Given the description of an element on the screen output the (x, y) to click on. 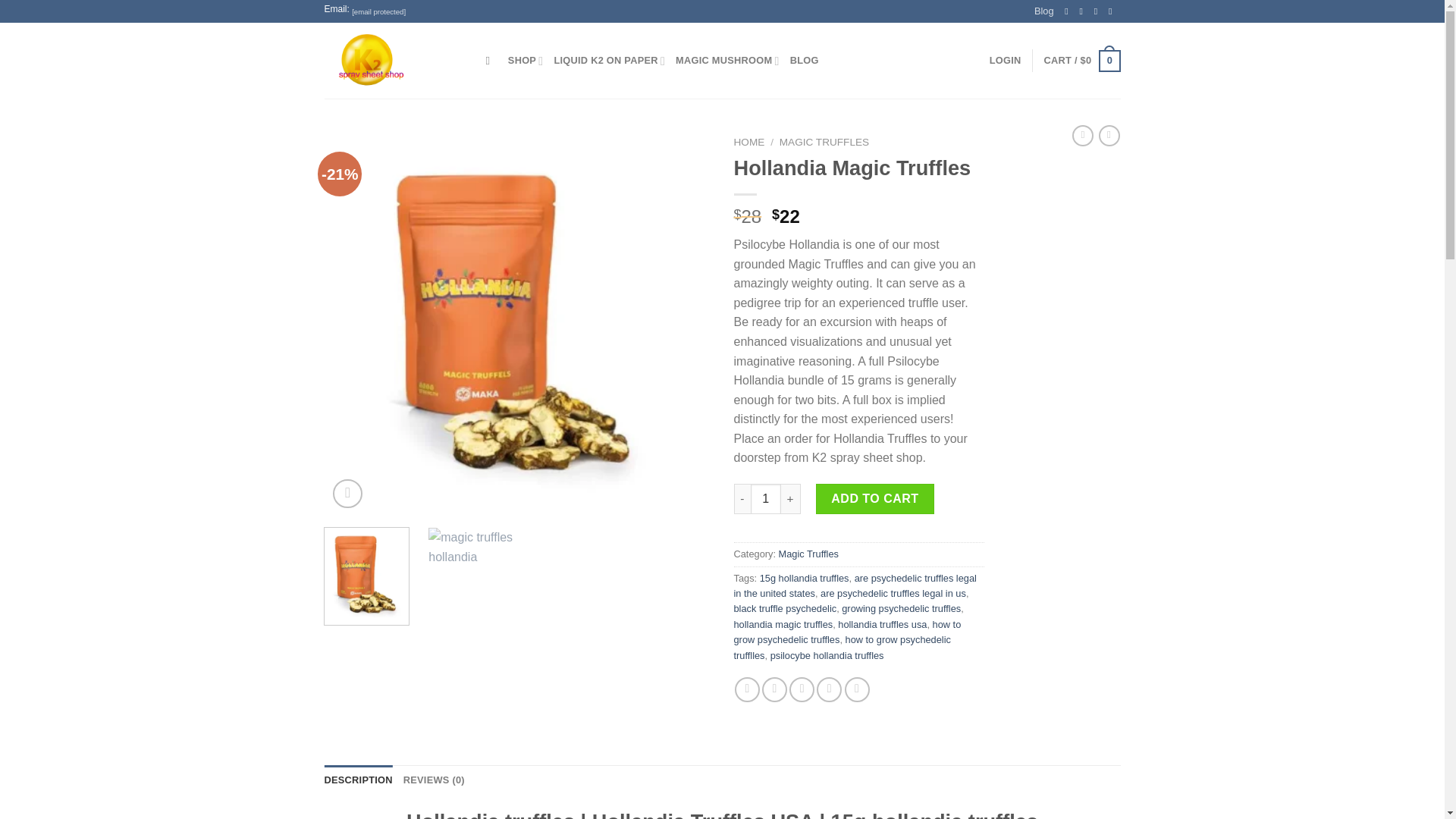
BLOG (804, 60)
Share on Facebook (747, 689)
MAGIC TRUFFLES (823, 142)
1 (765, 499)
Cart (1082, 61)
LIQUID K2 ON PAPER (609, 60)
Zoom (347, 493)
HOME (749, 142)
MAGIC MUSHROOM (726, 60)
